Given the description of an element on the screen output the (x, y) to click on. 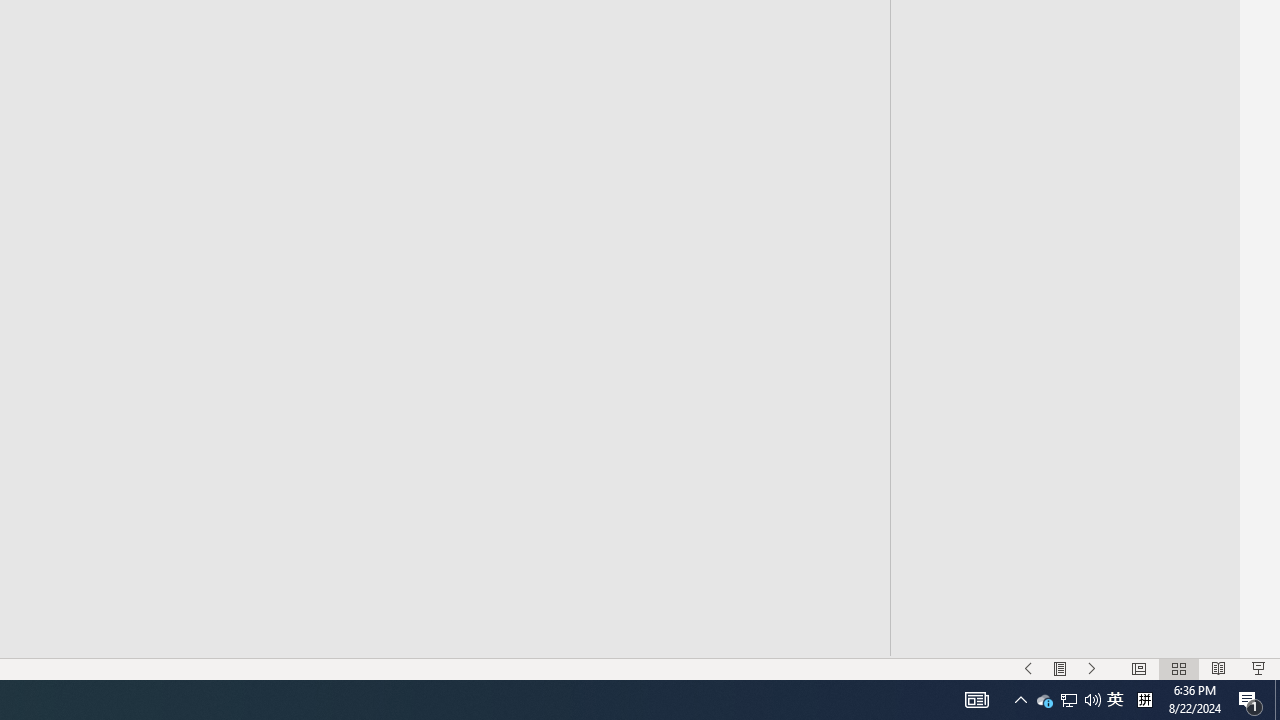
Slide Show Previous On (1028, 668)
Menu On (1060, 668)
Slide Show Next On (1092, 668)
